Given the description of an element on the screen output the (x, y) to click on. 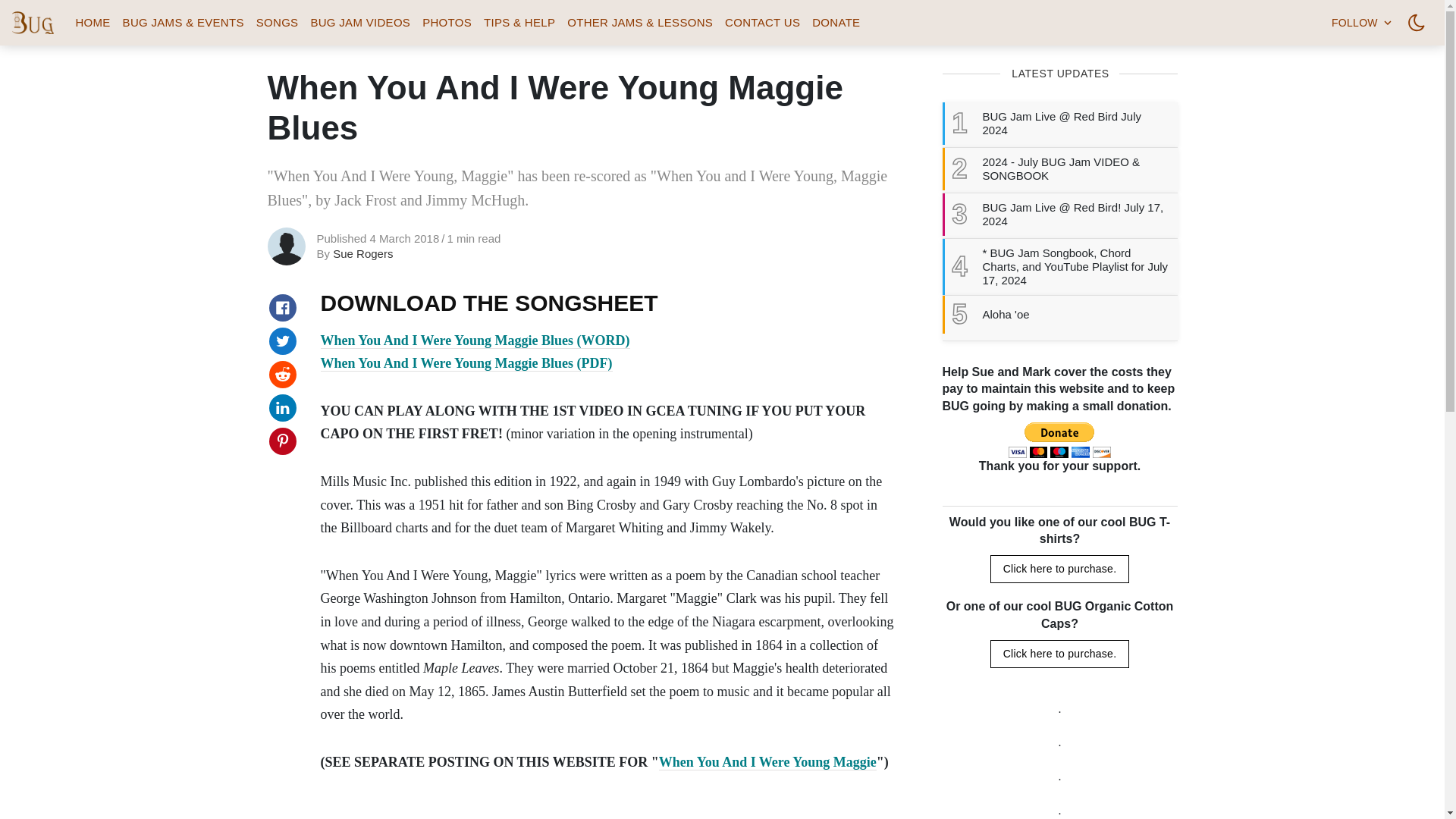
Sue Rogers (363, 253)
CONTACT US (762, 22)
Posts by Sue Rogers (363, 253)
DONATE (836, 22)
SONGS (277, 22)
PHOTOS (446, 22)
HOME (92, 22)
When You And I Were Young Maggie (767, 762)
BUG JAM VIDEOS (360, 22)
